Given the description of an element on the screen output the (x, y) to click on. 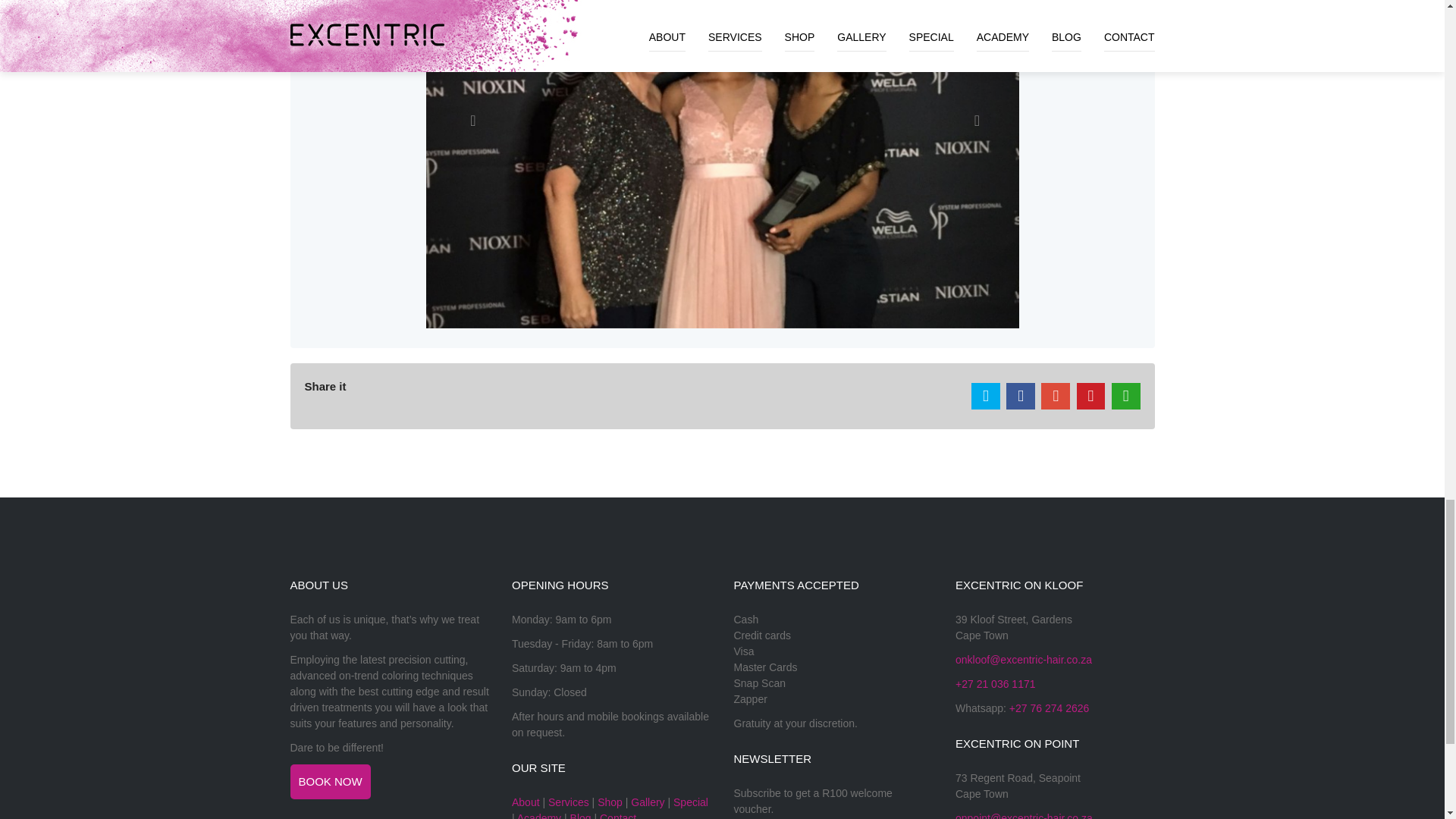
About (526, 802)
BOOK NOW (329, 781)
Gallery (646, 802)
Contact (617, 815)
Services (568, 802)
Academy (538, 815)
Blog (580, 815)
Special (689, 802)
Shop (609, 802)
